Given the description of an element on the screen output the (x, y) to click on. 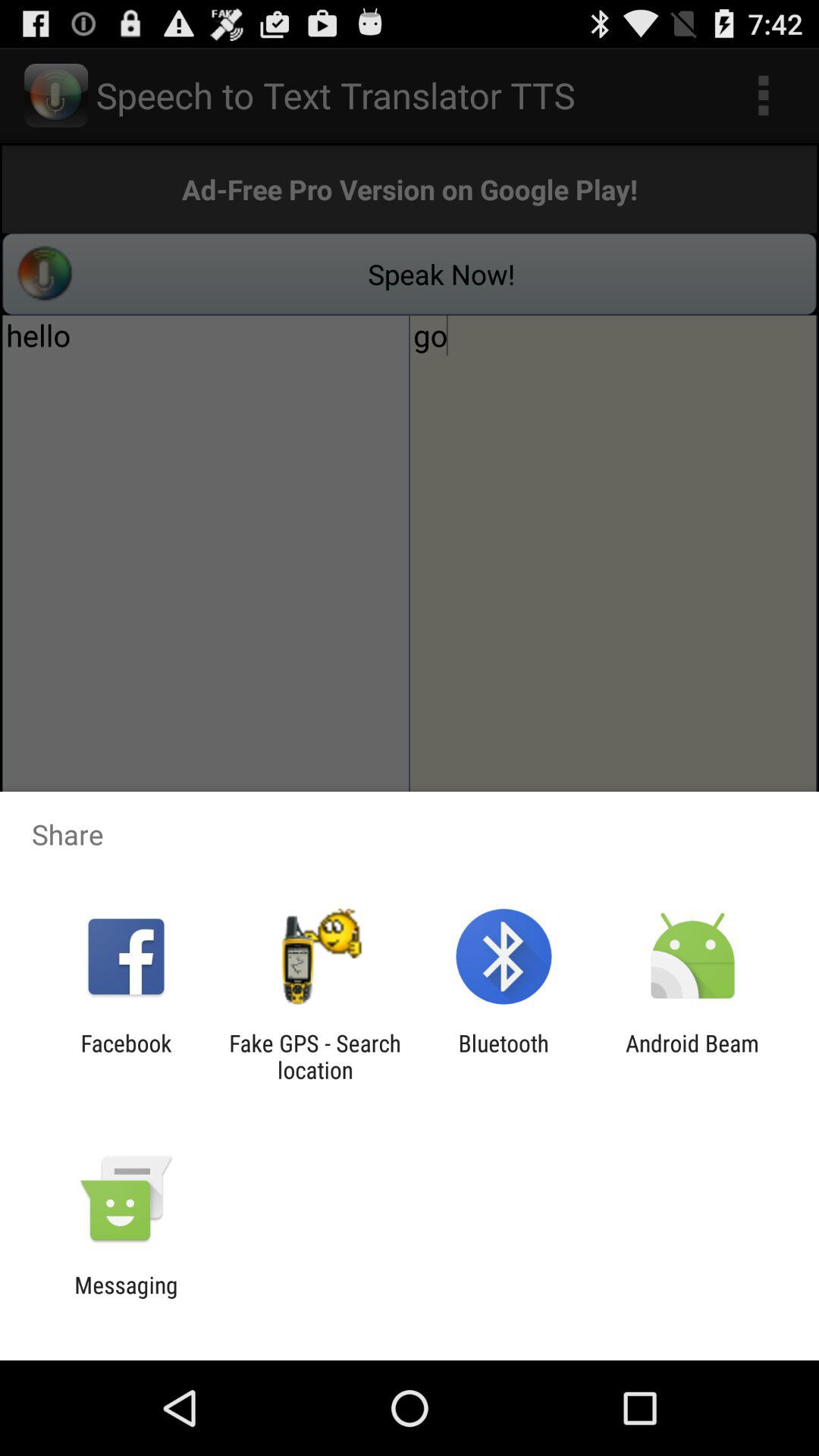
launch bluetooth item (503, 1056)
